Given the description of an element on the screen output the (x, y) to click on. 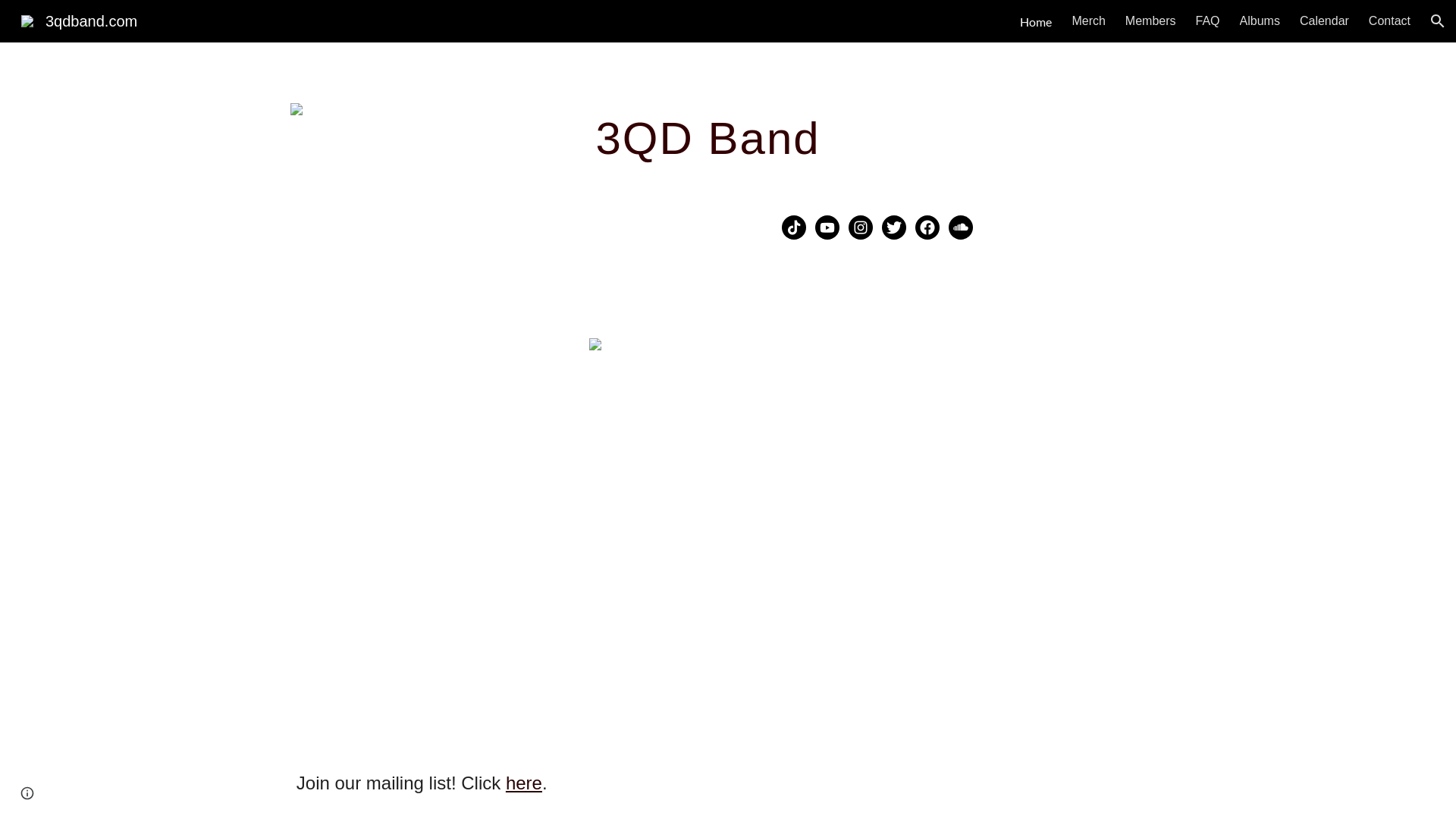
3qdband.com Element type: text (79, 19)
Merch Element type: text (1087, 21)
Albums Element type: text (1259, 21)
Home Element type: text (1035, 20)
FAQ Element type: text (1207, 21)
here Element type: text (523, 785)
Calendar Element type: text (1324, 21)
Members Element type: text (1150, 21)
Contact Element type: text (1389, 21)
